Given the description of an element on the screen output the (x, y) to click on. 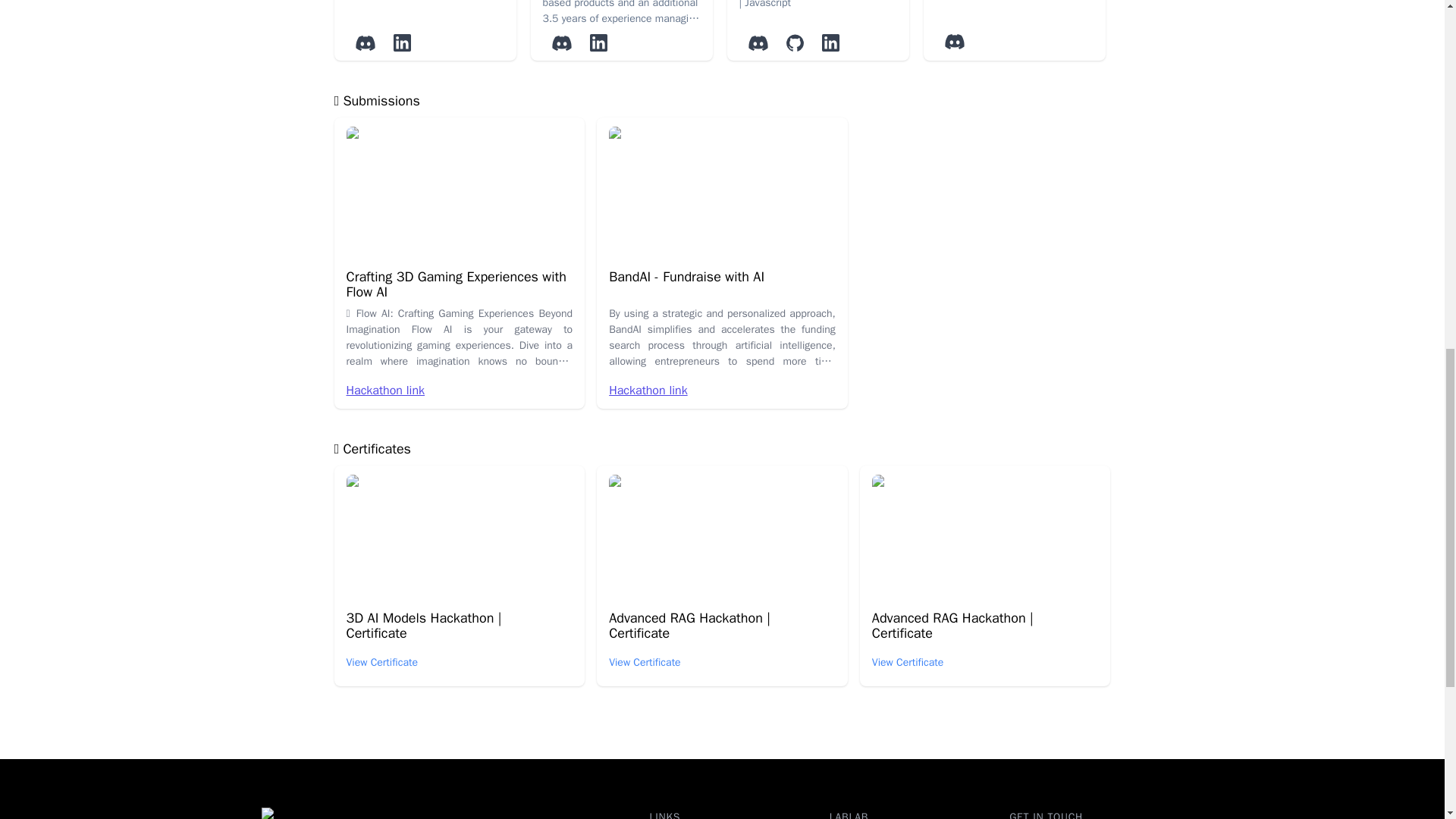
Hackathon link (647, 390)
Hackathon link (385, 390)
View Certificate (907, 662)
Andrea De Cosmo (424, 13)
Muhammad Shehata (1014, 13)
View Certificate (381, 662)
View Certificate (644, 662)
